Given the description of an element on the screen output the (x, y) to click on. 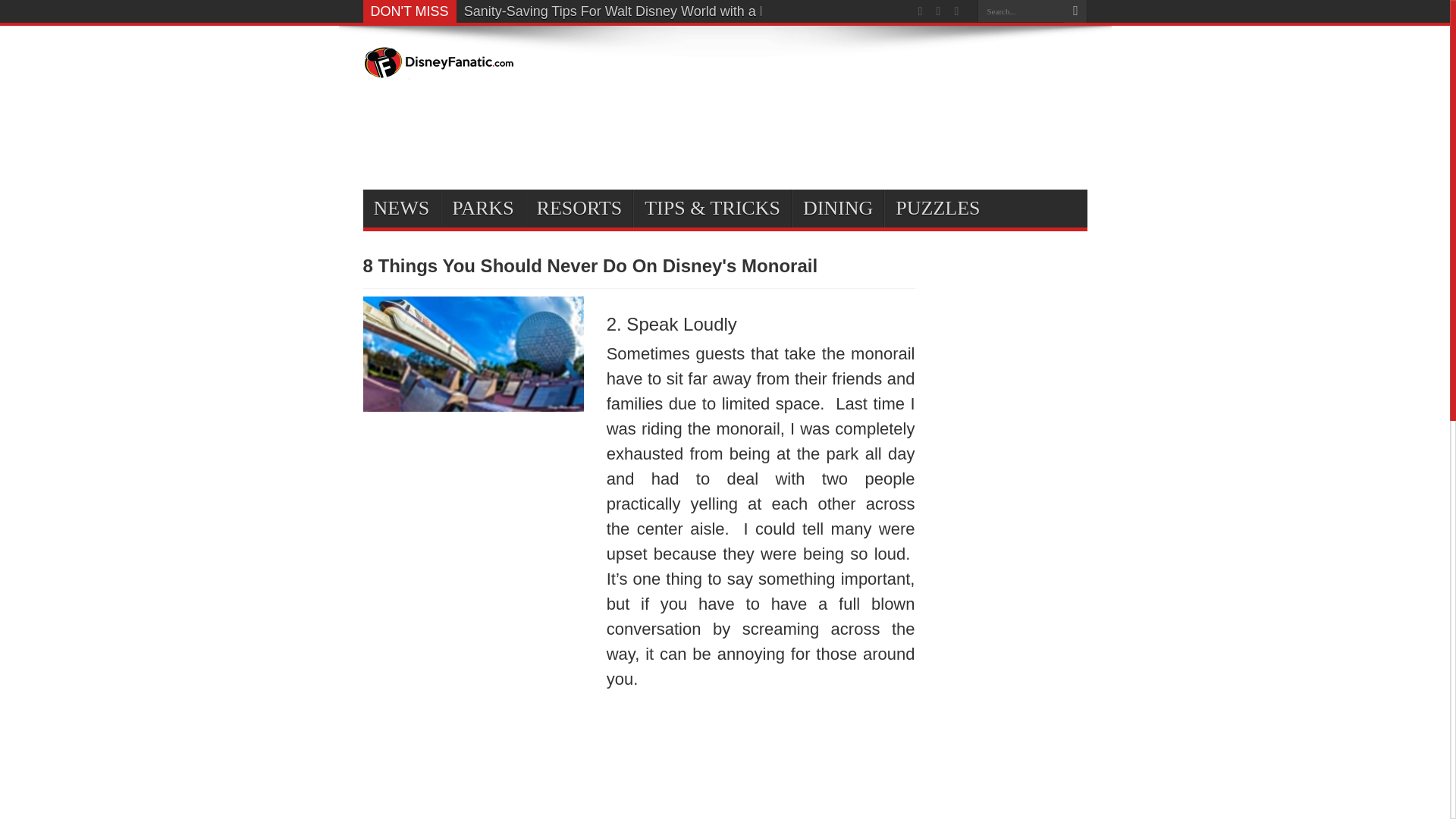
Search... (1020, 11)
PUZZLES (936, 208)
Advertisement (720, 763)
DisneyFanatic.com (437, 67)
RESORTS (579, 208)
PARKS (482, 208)
DINING (837, 208)
NEWS (400, 208)
